Given the description of an element on the screen output the (x, y) to click on. 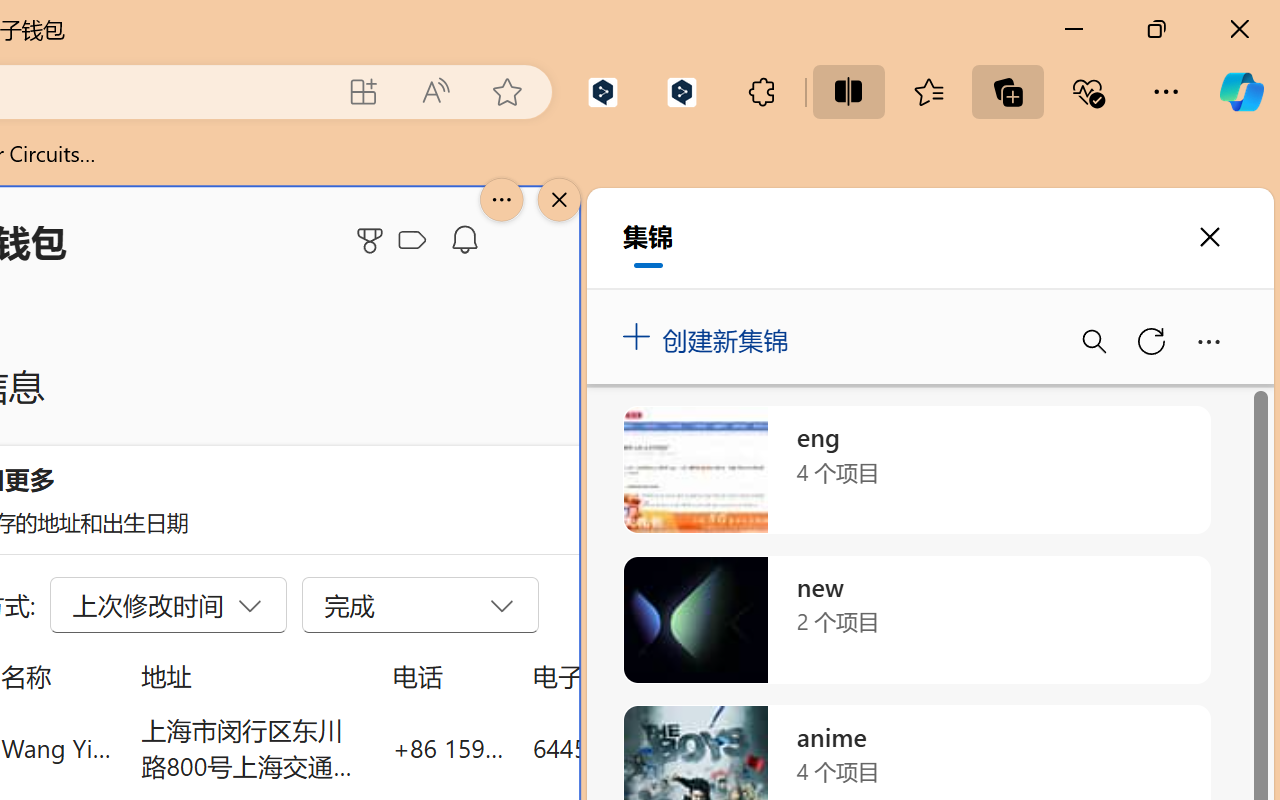
644553698@qq.com (644, 747)
Microsoft Rewards (373, 240)
Class: ___1lmltc5 f1agt3bx f12qytpq (411, 241)
Copilot (Ctrl+Shift+.) (1241, 91)
